Given the description of an element on the screen output the (x, y) to click on. 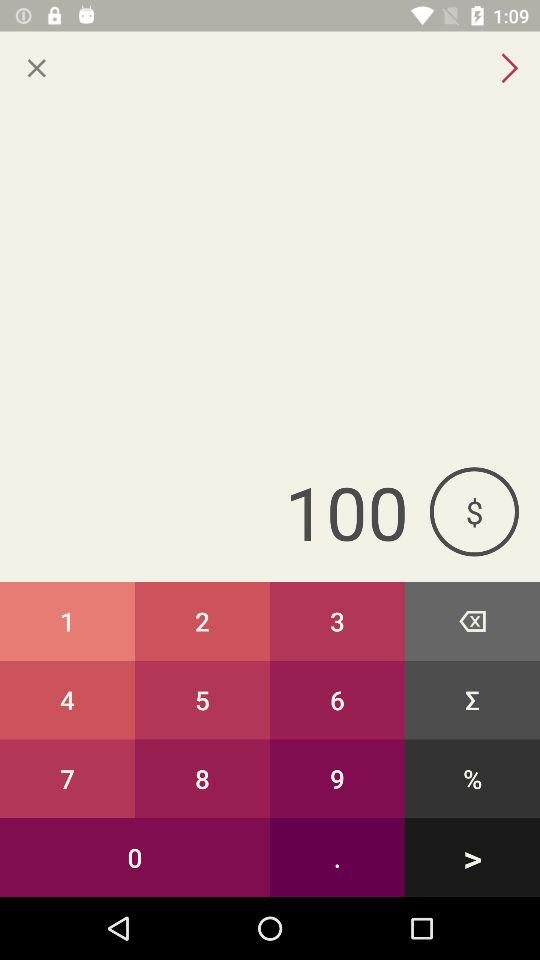
click button above 8 button (337, 699)
